Given the description of an element on the screen output the (x, y) to click on. 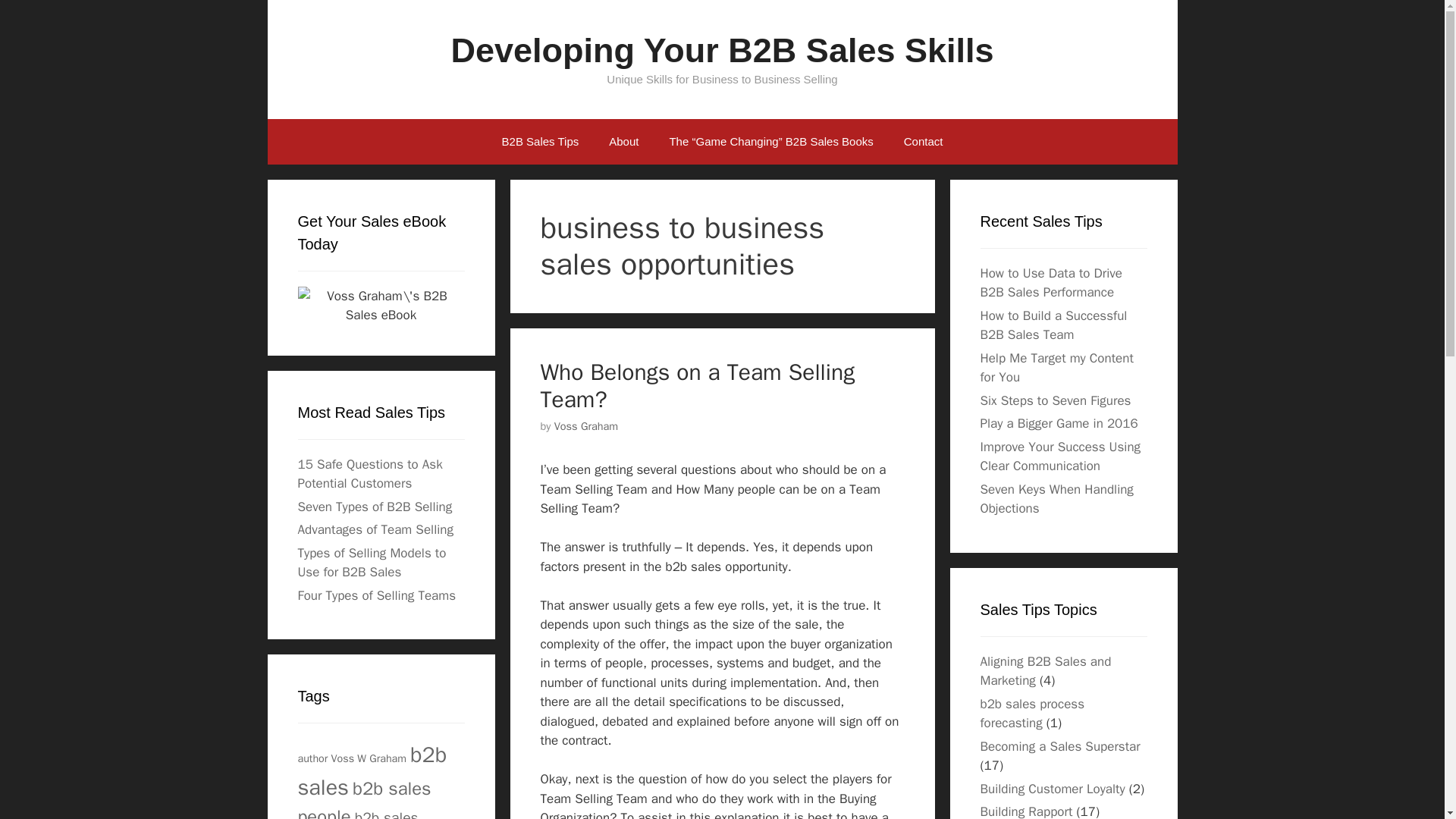
Contact (923, 140)
Four Types of Selling Teams (376, 594)
Who Belongs on a Team Selling Team? (697, 385)
15 Safe Questions to Ask Potential Customers (369, 474)
Building Rapport for Strong Relationships (1025, 811)
Types of Selling Models to Use for B2B Sales (371, 561)
b2b sales people (363, 798)
Seven Types of B2B Selling (374, 506)
b2b sales person (357, 813)
Seven Types of B2B Selling (374, 506)
